Given the description of an element on the screen output the (x, y) to click on. 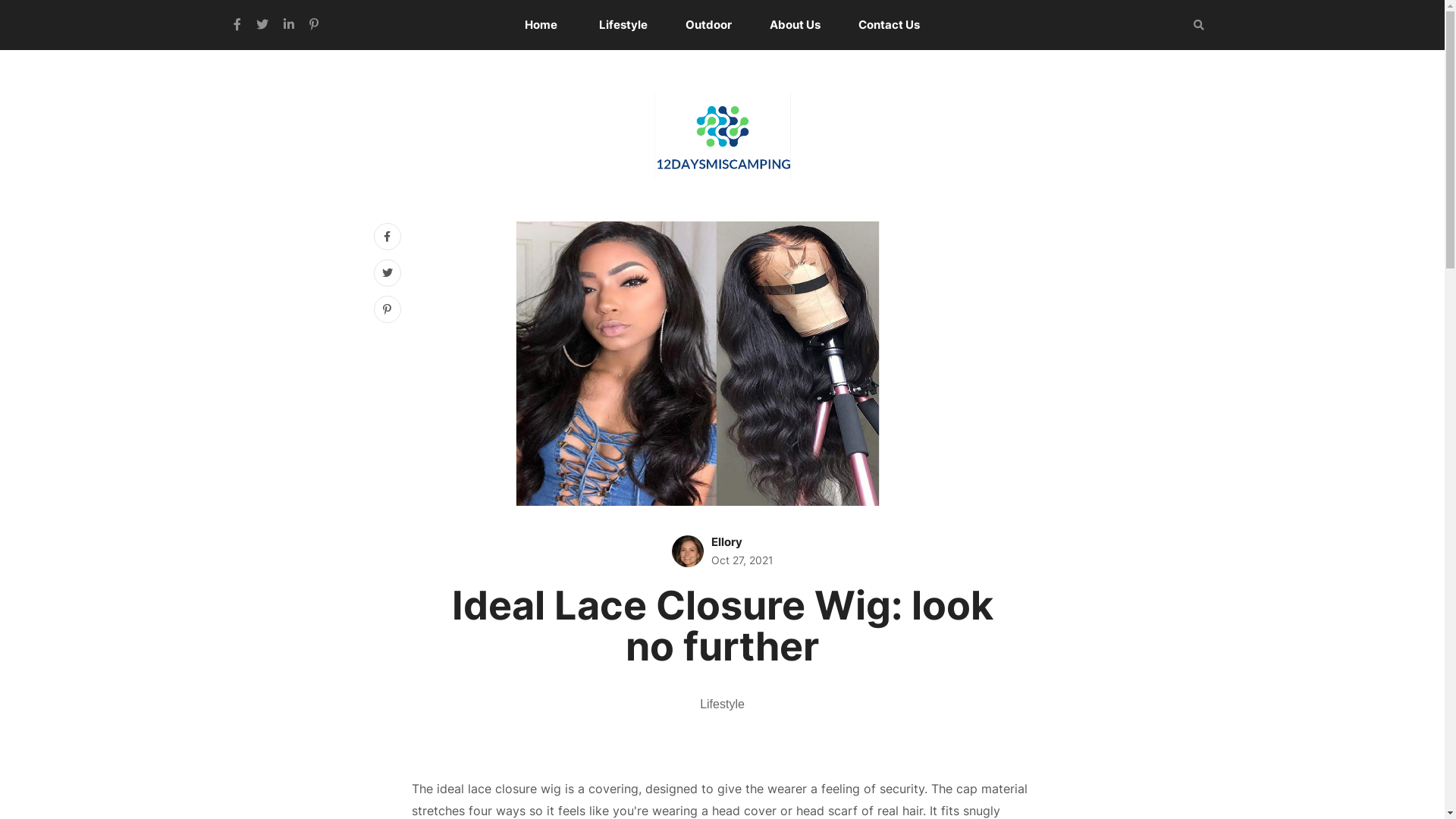
Home Element type: text (540, 25)
Lifestyle Element type: text (623, 25)
Contact Us Element type: text (888, 25)
Ellory Element type: text (726, 541)
About Us Element type: text (794, 25)
Lifestyle Element type: text (721, 703)
Outdoor Element type: text (708, 25)
